Given the description of an element on the screen output the (x, y) to click on. 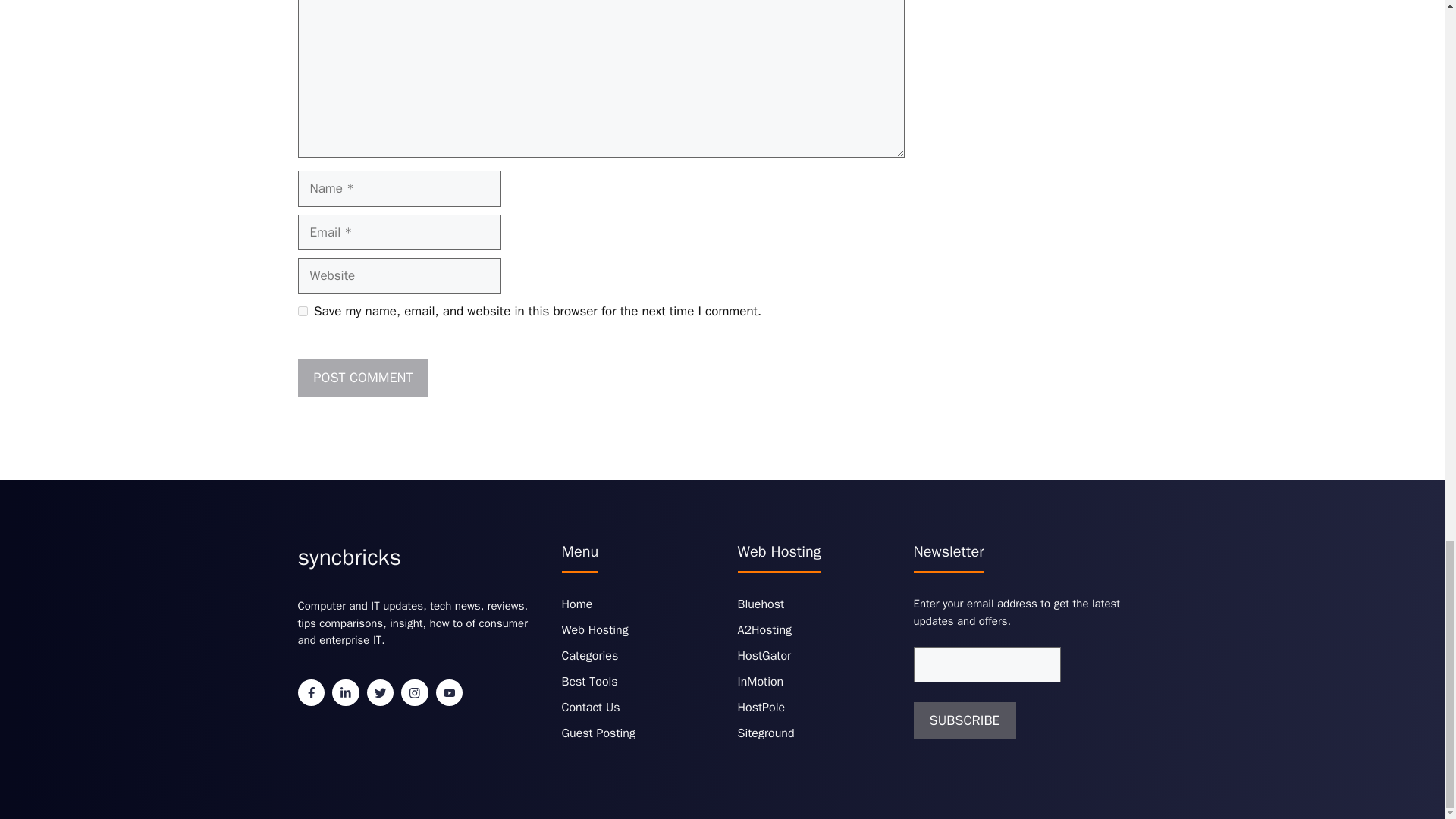
Post Comment (362, 377)
yes (302, 311)
Subscribe (963, 720)
